Given the description of an element on the screen output the (x, y) to click on. 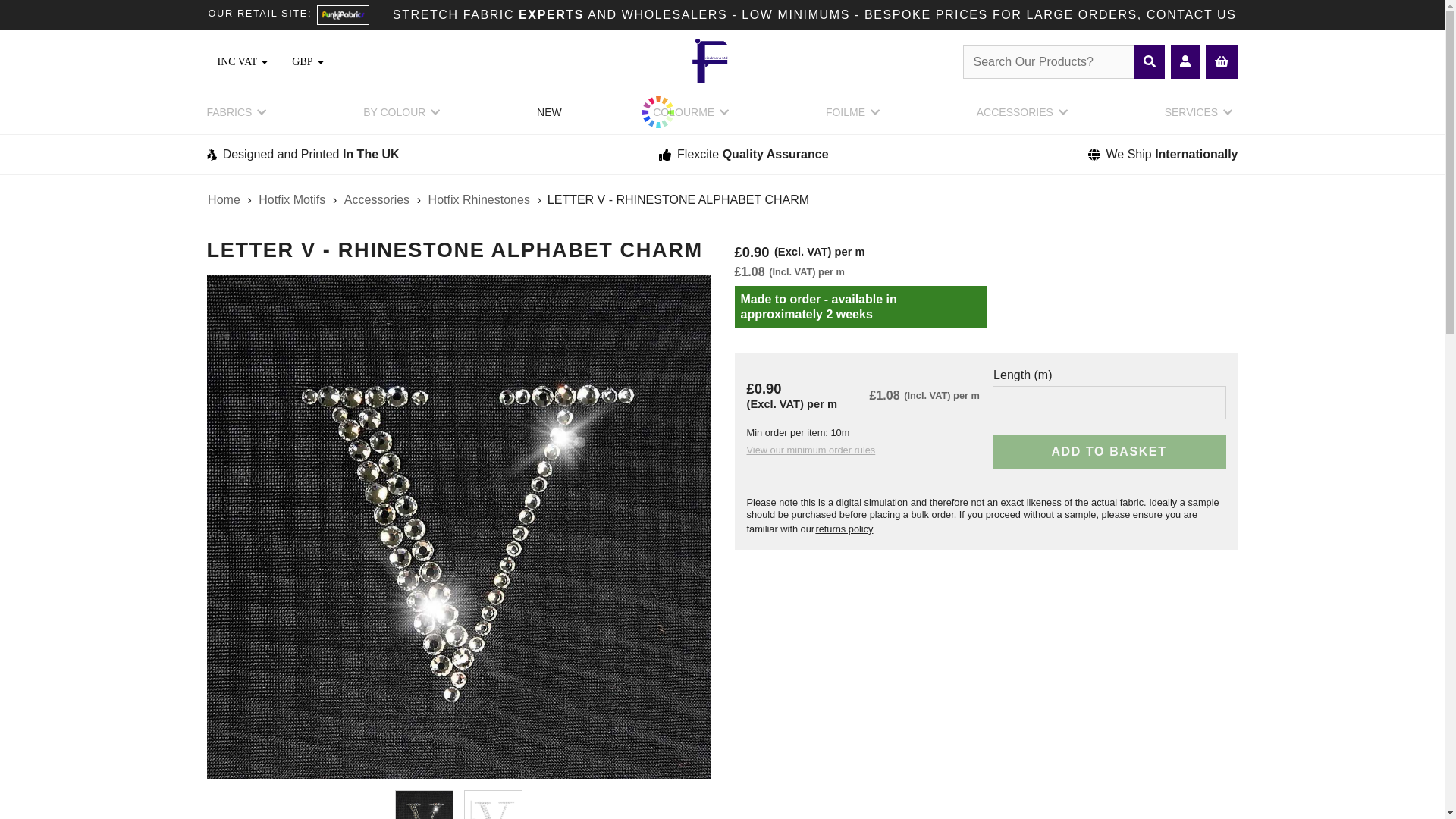
open (320, 61)
open (264, 61)
FABRICS (238, 117)
